Given the description of an element on the screen output the (x, y) to click on. 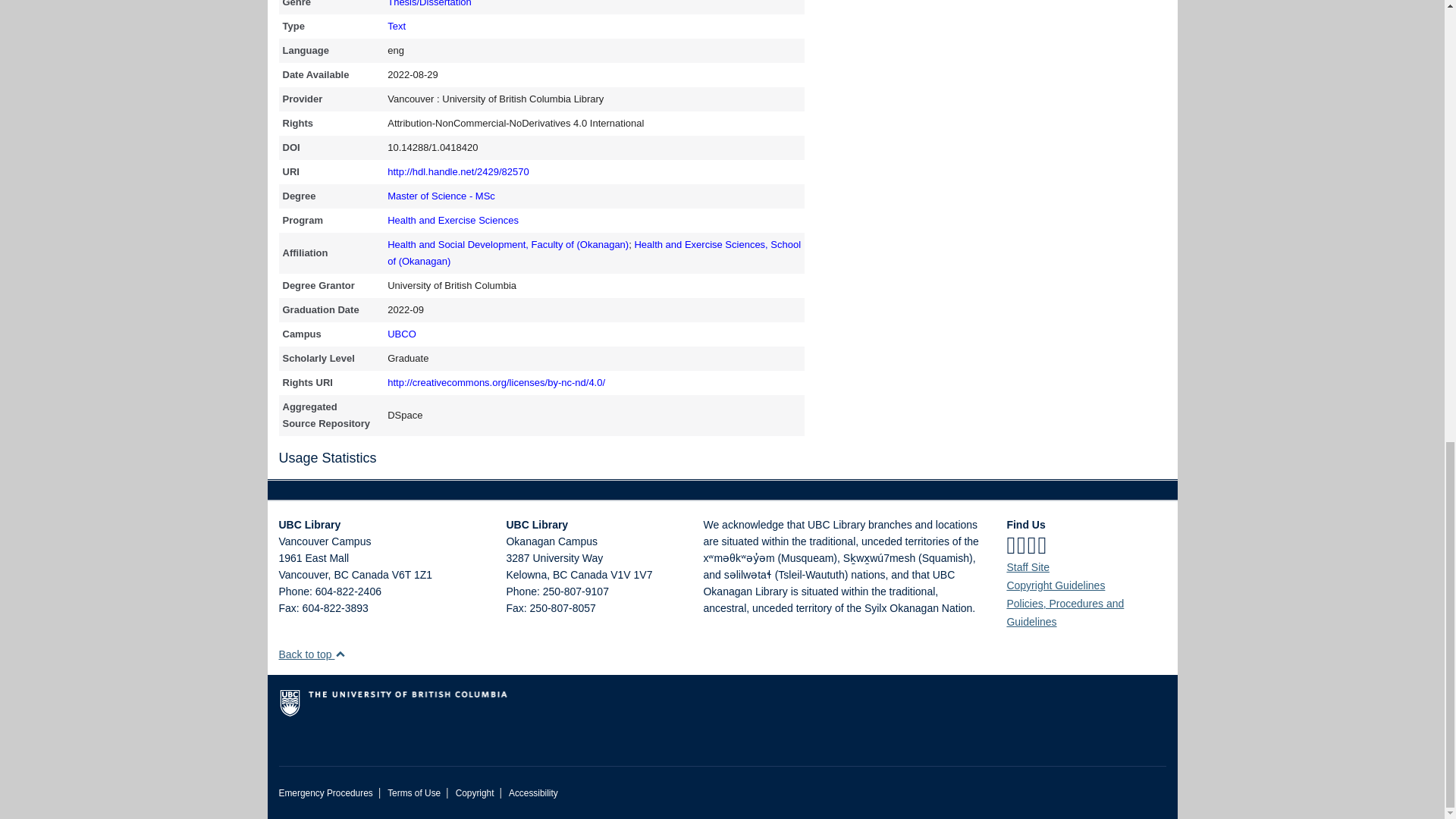
British Columbia (340, 574)
British Columbia (560, 574)
